Given the description of an element on the screen output the (x, y) to click on. 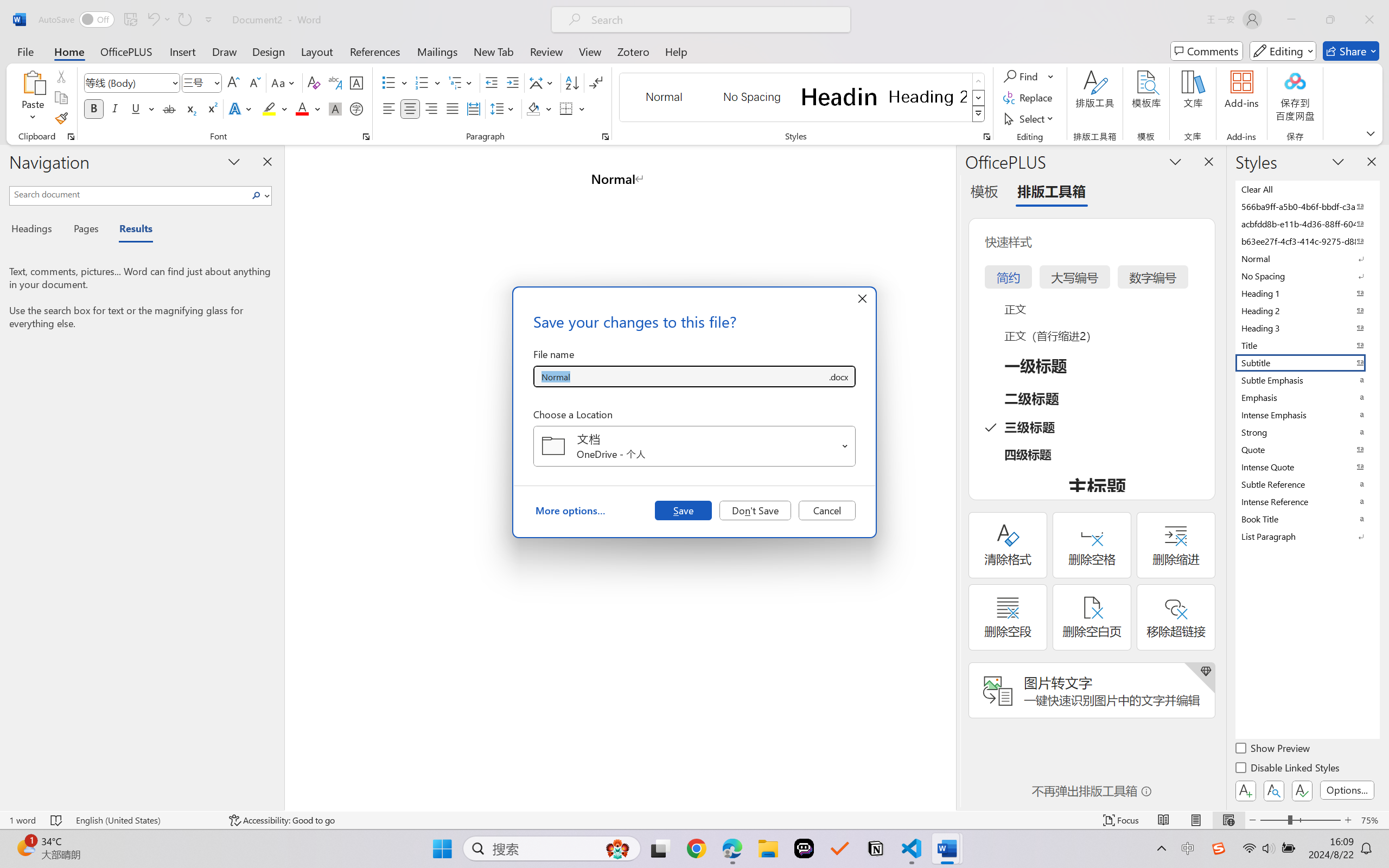
Bullets (395, 82)
Copy (60, 97)
Bold (94, 108)
Accessibility Checker Accessibility: Good to go (282, 819)
Show Preview (1273, 749)
Class: NetUIScrollBar (948, 477)
Google Chrome (696, 848)
Font (132, 82)
Multilevel List (461, 82)
Shading RGB(0, 0, 0) (533, 108)
AutoSave (76, 19)
Numbering (428, 82)
